Given the description of an element on the screen output the (x, y) to click on. 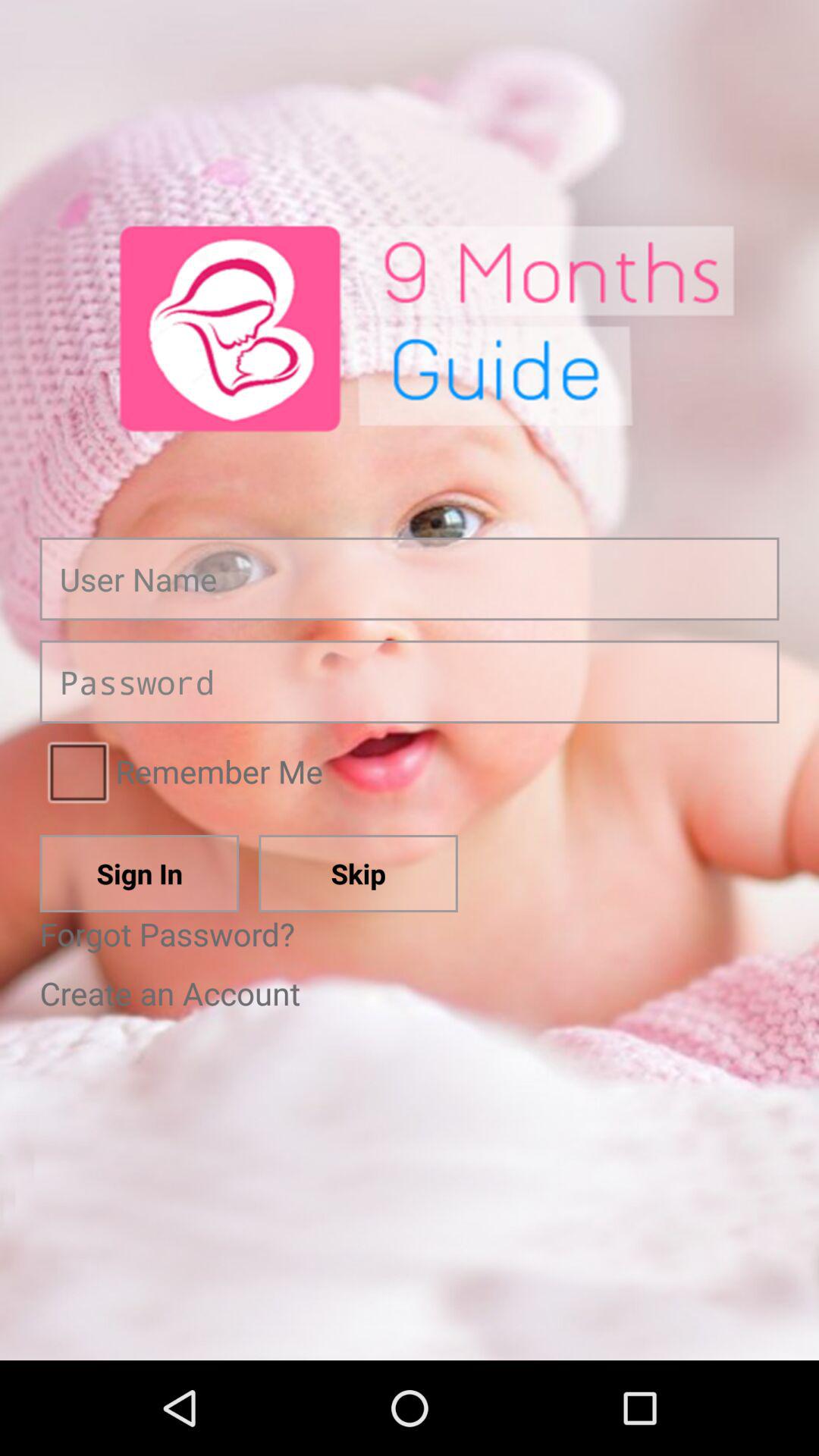
login page (409, 681)
